Given the description of an element on the screen output the (x, y) to click on. 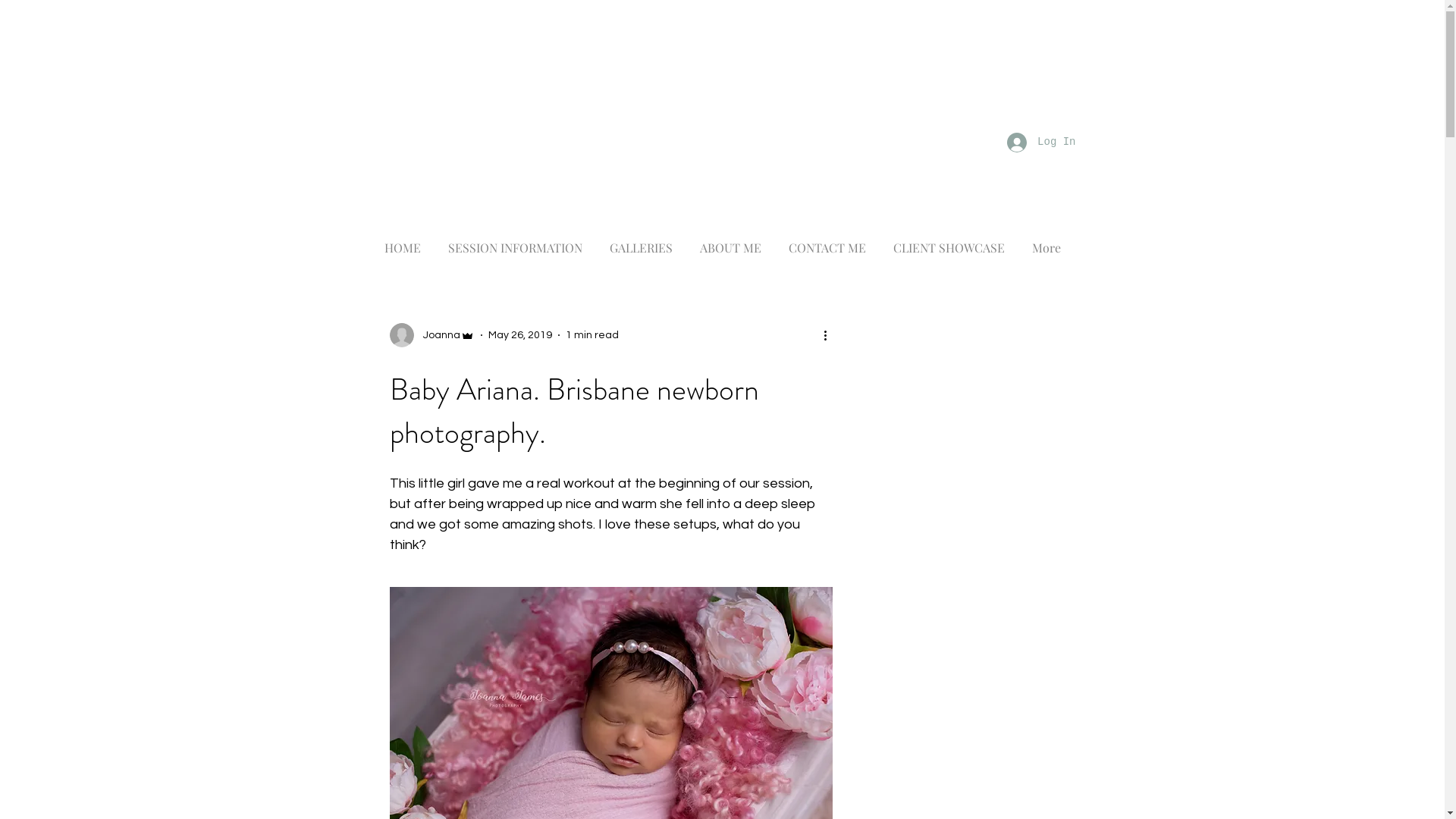
Joanna Element type: text (431, 335)
HOME Element type: text (402, 252)
Log In Element type: text (1040, 141)
GALLERIES Element type: text (641, 252)
CONTACT ME Element type: text (827, 252)
SESSION INFORMATION Element type: text (515, 252)
ABOUT ME Element type: text (730, 252)
CLIENT SHOWCASE Element type: text (948, 252)
